Given the description of an element on the screen output the (x, y) to click on. 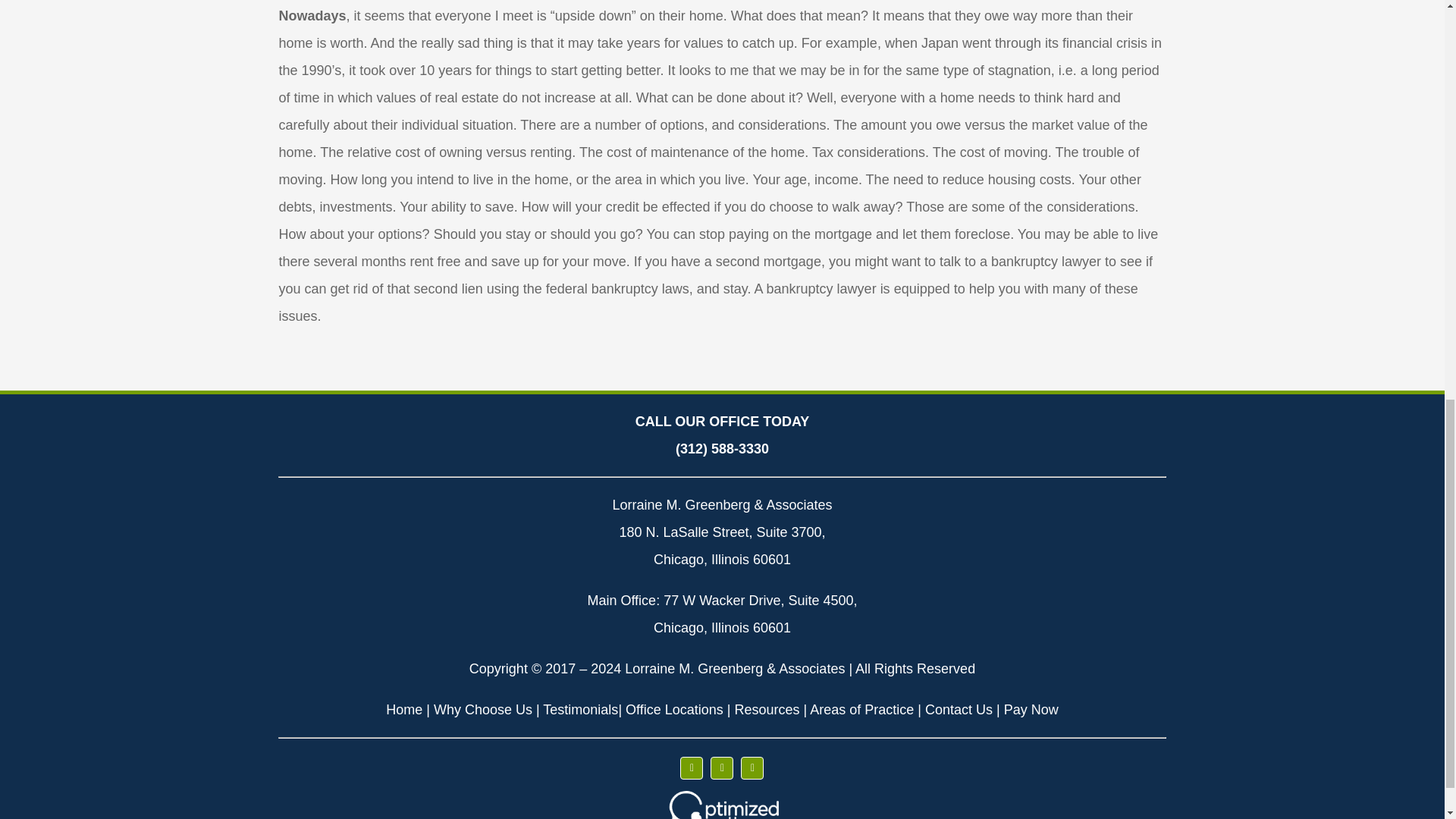
Facebook (691, 767)
LinkedIn (751, 767)
Twitter (721, 767)
